Given the description of an element on the screen output the (x, y) to click on. 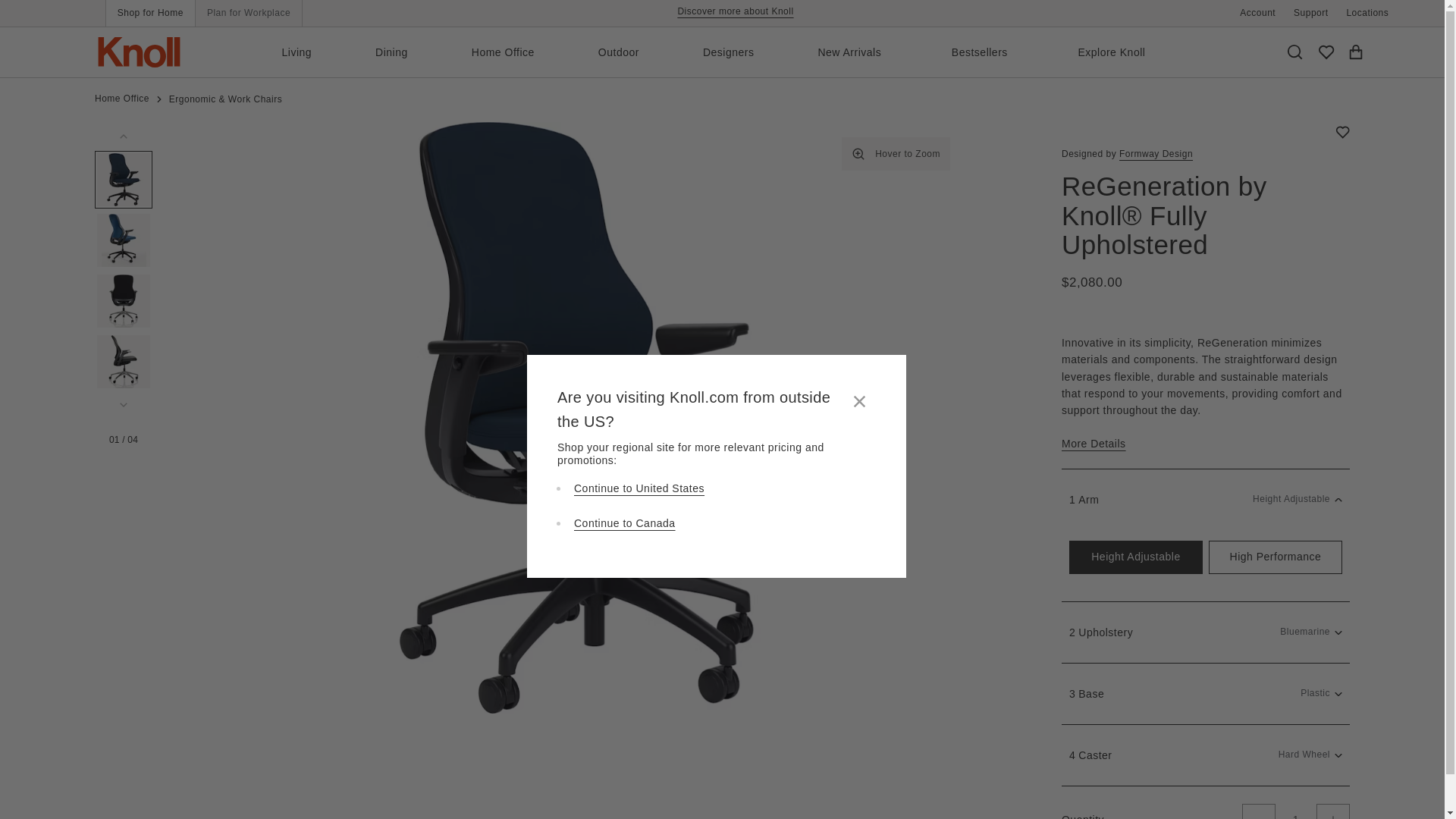
logo (139, 51)
heart (1326, 52)
Discover more about Knoll (735, 10)
Knoll (139, 51)
Locations (1367, 12)
arrow-right-gray (158, 100)
Account (1257, 12)
Living (321, 52)
Plan for Workplace (248, 13)
logo (139, 51)
Cart 0 Items (1349, 52)
Support (1310, 12)
Wishlist (1320, 51)
search (1295, 51)
1 (1296, 811)
